Given the description of an element on the screen output the (x, y) to click on. 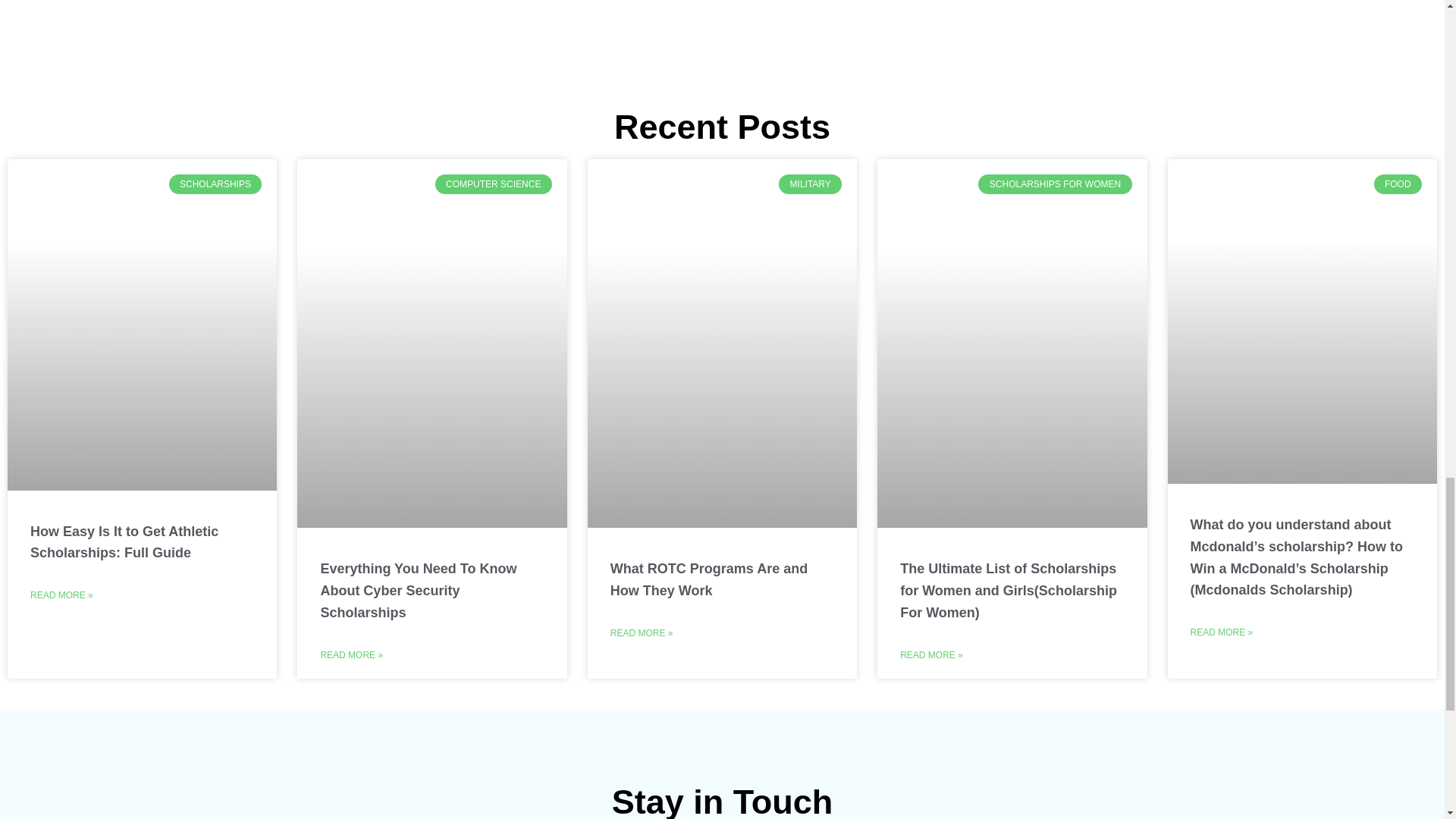
What ROTC Programs Are and How They Work (709, 579)
How Easy Is It to Get Athletic Scholarships: Full Guide (124, 542)
